Given the description of an element on the screen output the (x, y) to click on. 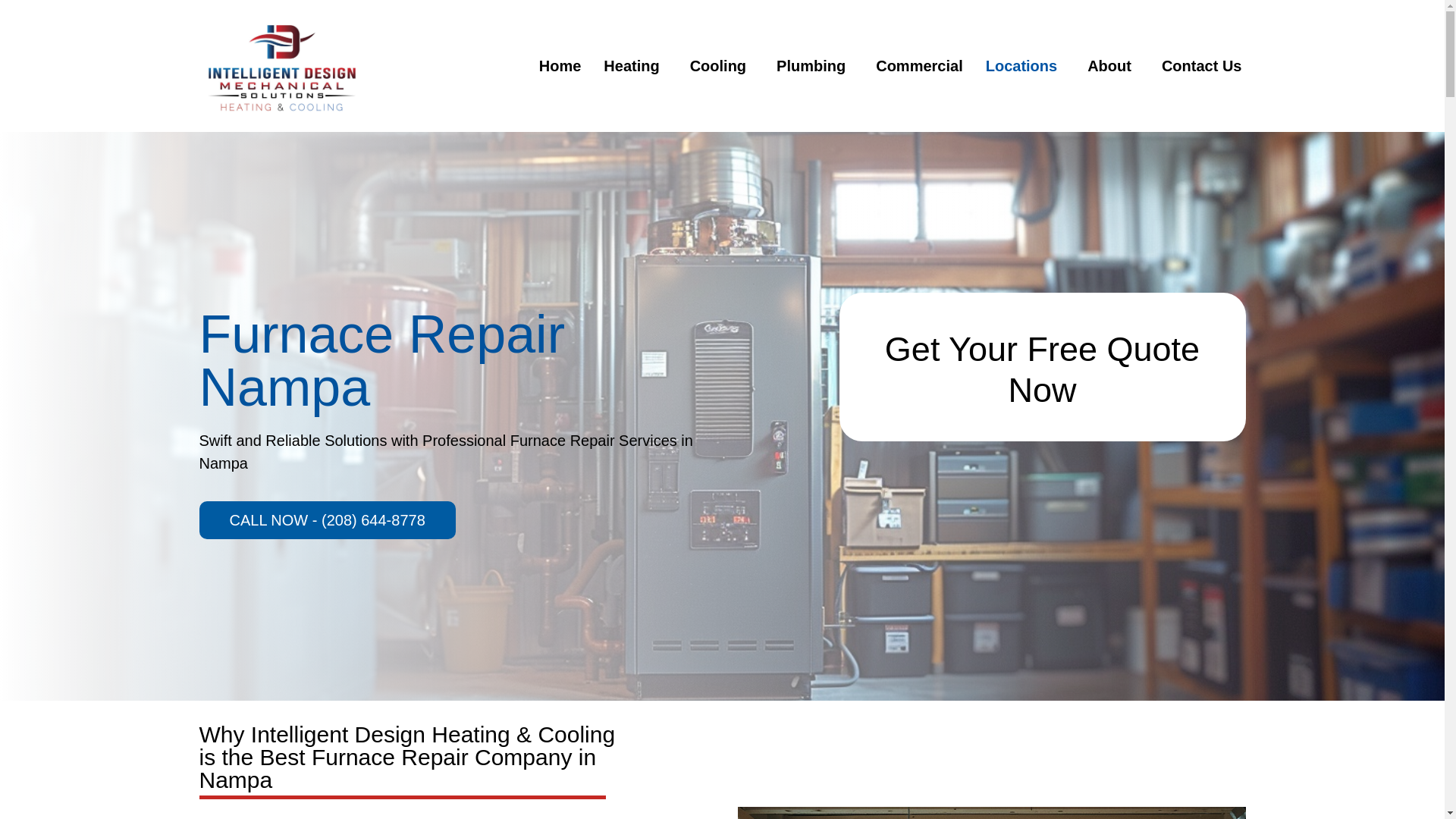
Home (559, 65)
Heating (635, 65)
Plumbing (814, 65)
Locations (1024, 65)
Commercial (919, 65)
Cooling (721, 65)
